Given the description of an element on the screen output the (x, y) to click on. 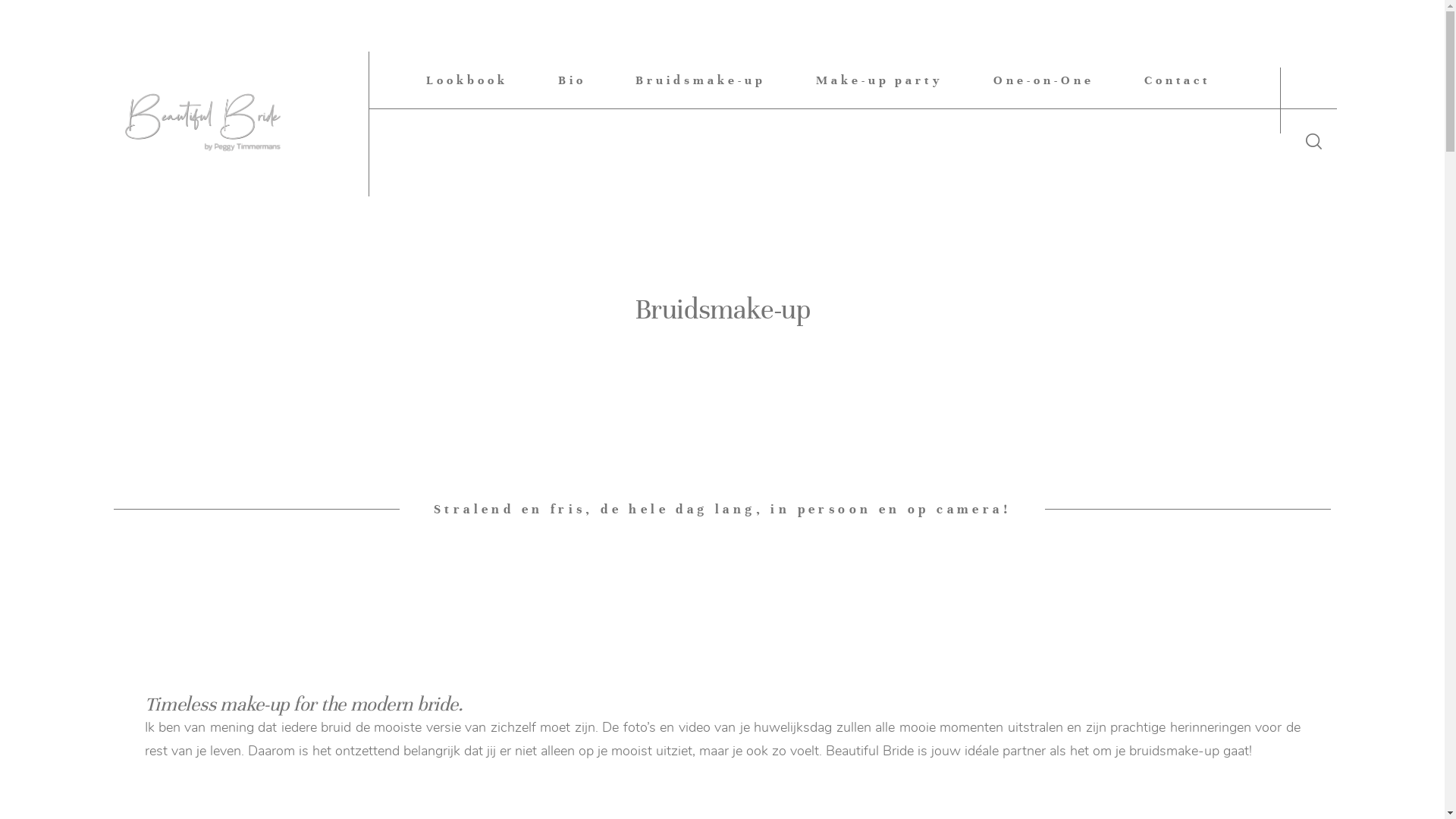
Bio Element type: text (572, 78)
Lookbook Element type: text (467, 78)
One-on-One Element type: text (1043, 78)
Bruidsmake-up Element type: text (700, 78)
Make-up party Element type: text (879, 78)
Contact Element type: text (1177, 78)
